Given the description of an element on the screen output the (x, y) to click on. 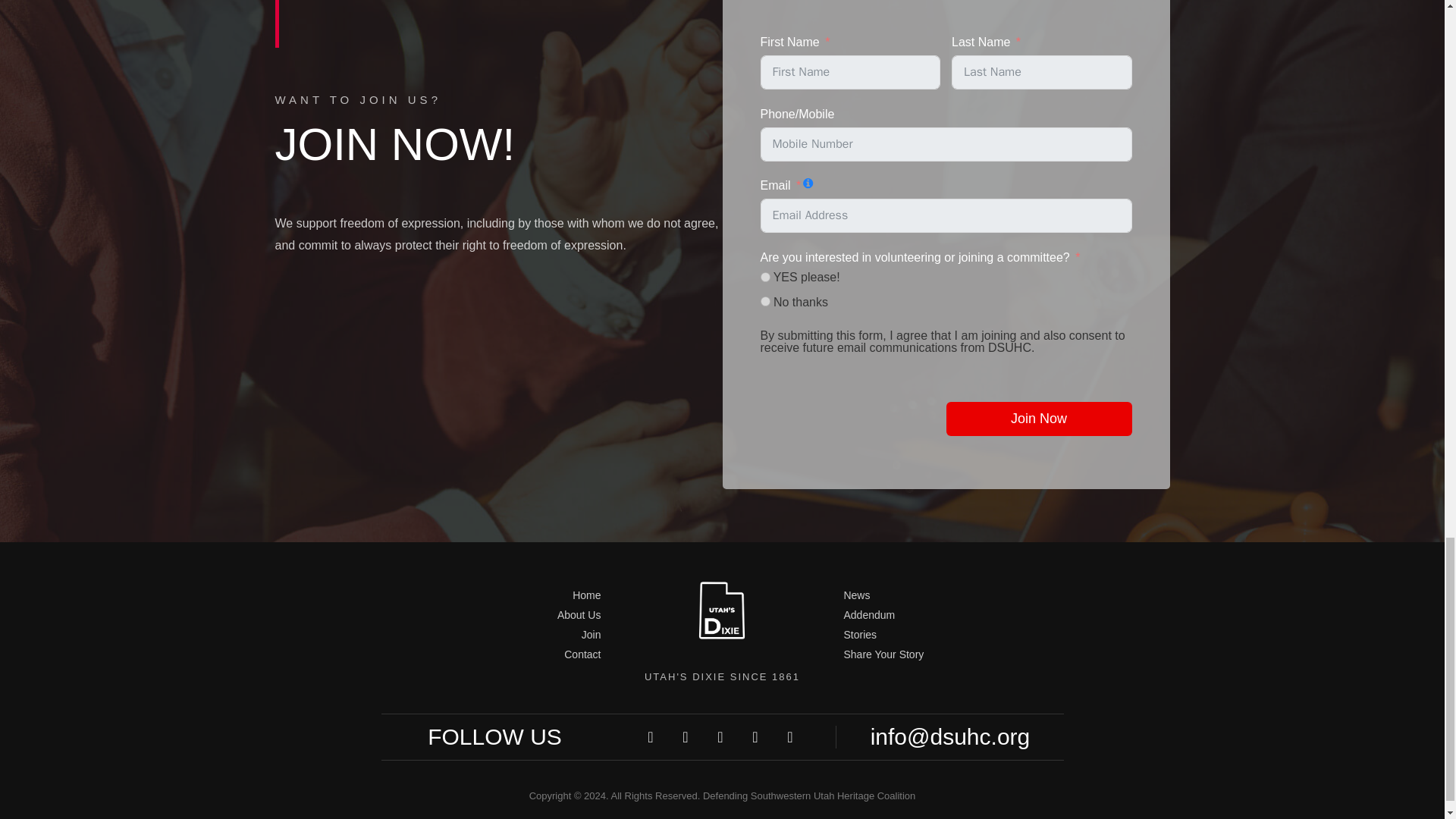
Share Your Story (949, 654)
About Us (493, 615)
Home (493, 595)
Contact (493, 654)
Join Now (1039, 418)
No thanks (765, 301)
Join (493, 634)
YES please! (765, 276)
Addendum (949, 615)
Stories (949, 634)
